Given the description of an element on the screen output the (x, y) to click on. 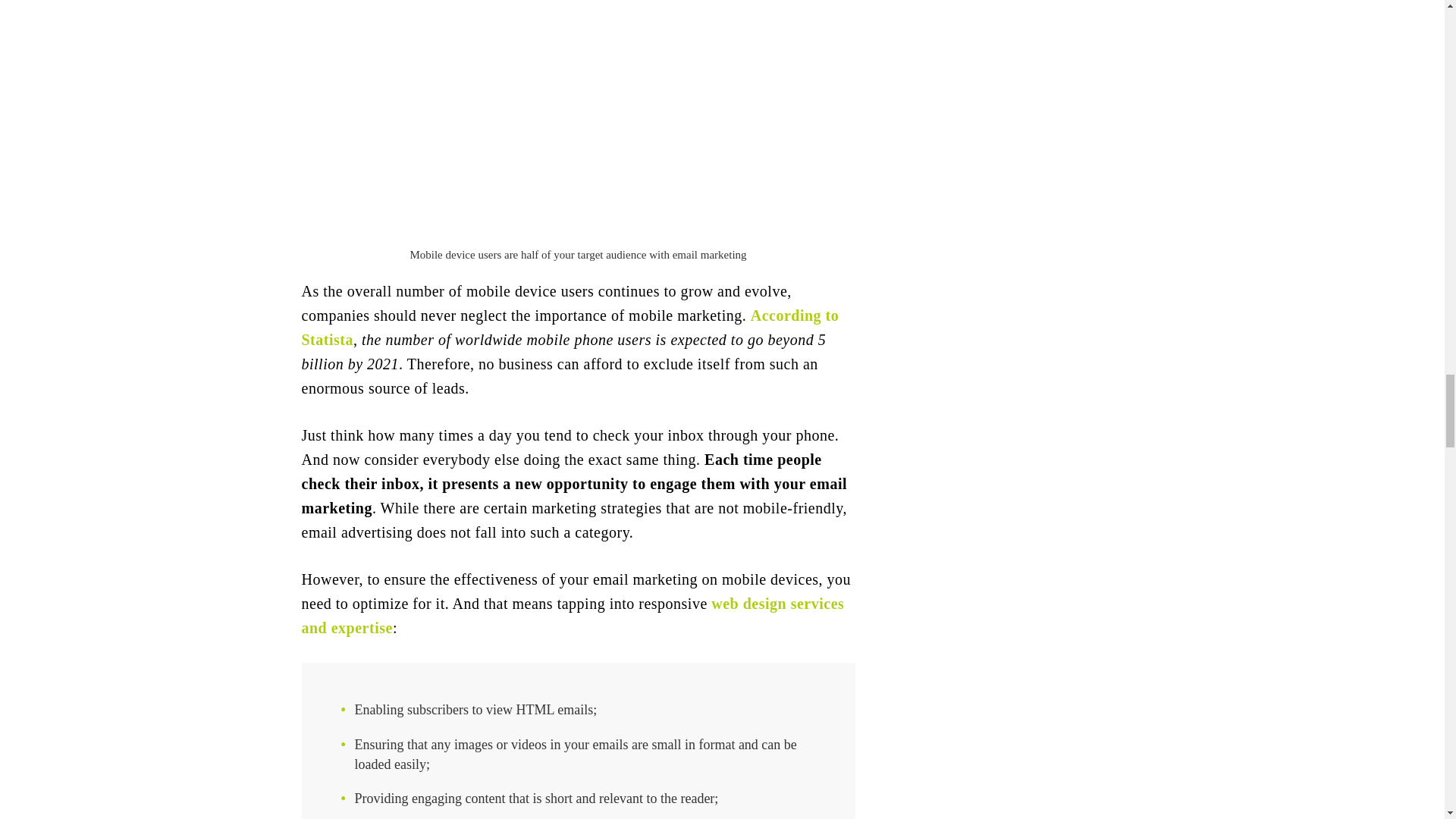
web design services and expertise (572, 615)
According to Statista (570, 327)
